Given the description of an element on the screen output the (x, y) to click on. 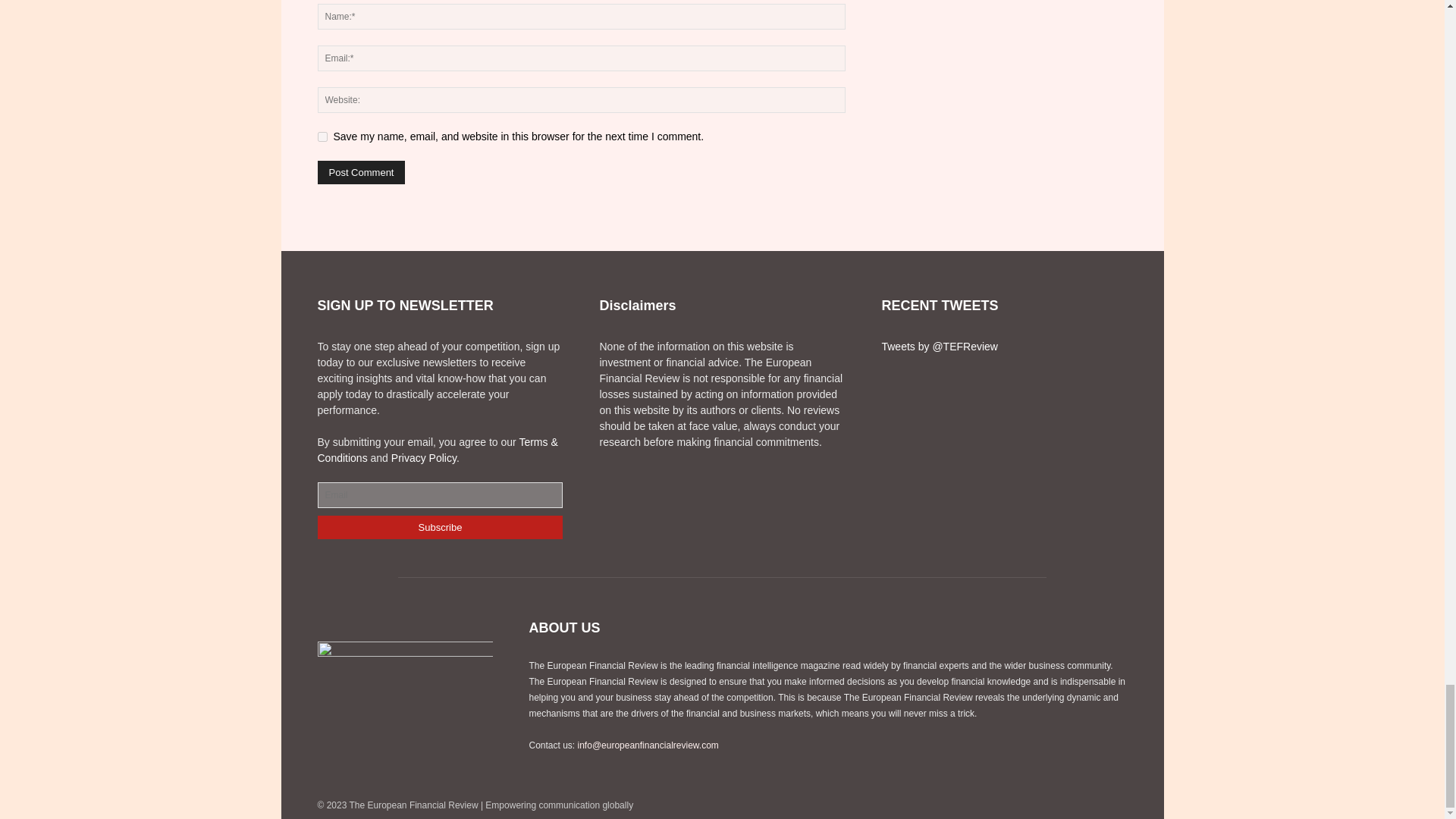
yes (321, 136)
Subscribe (439, 526)
Post Comment (360, 172)
